Given the description of an element on the screen output the (x, y) to click on. 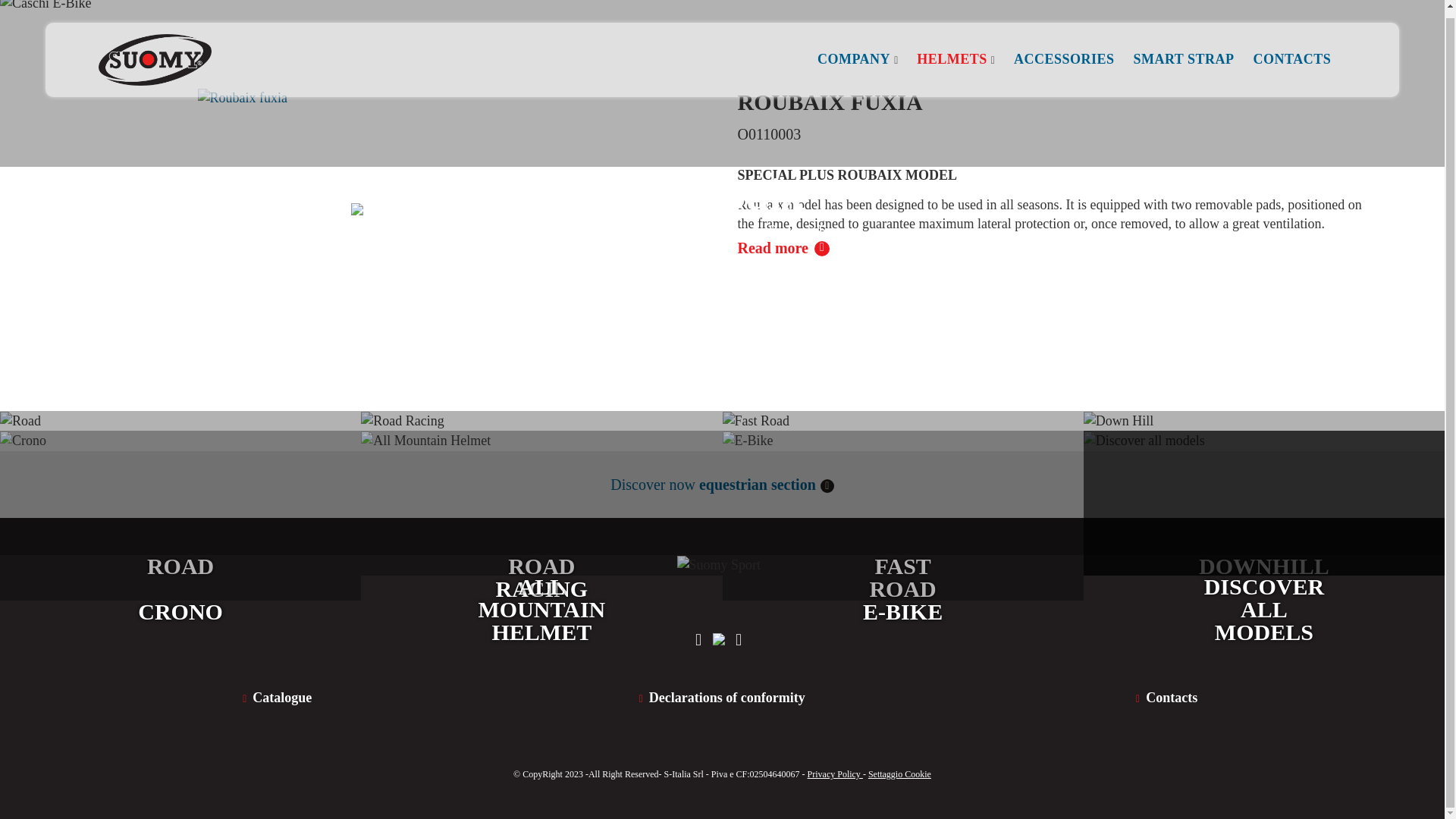
Roubaix (729, 230)
Home (611, 230)
cycling helmets - Fast Road (902, 483)
SMART STRAP (1182, 51)
cycling helmets - E-Bike (902, 515)
Catalogue Cycling (276, 697)
Click to preview image (387, 128)
cycling helmets - Crono (180, 515)
cycling helmets - Road Racing (541, 483)
HELMETS (952, 51)
